Given the description of an element on the screen output the (x, y) to click on. 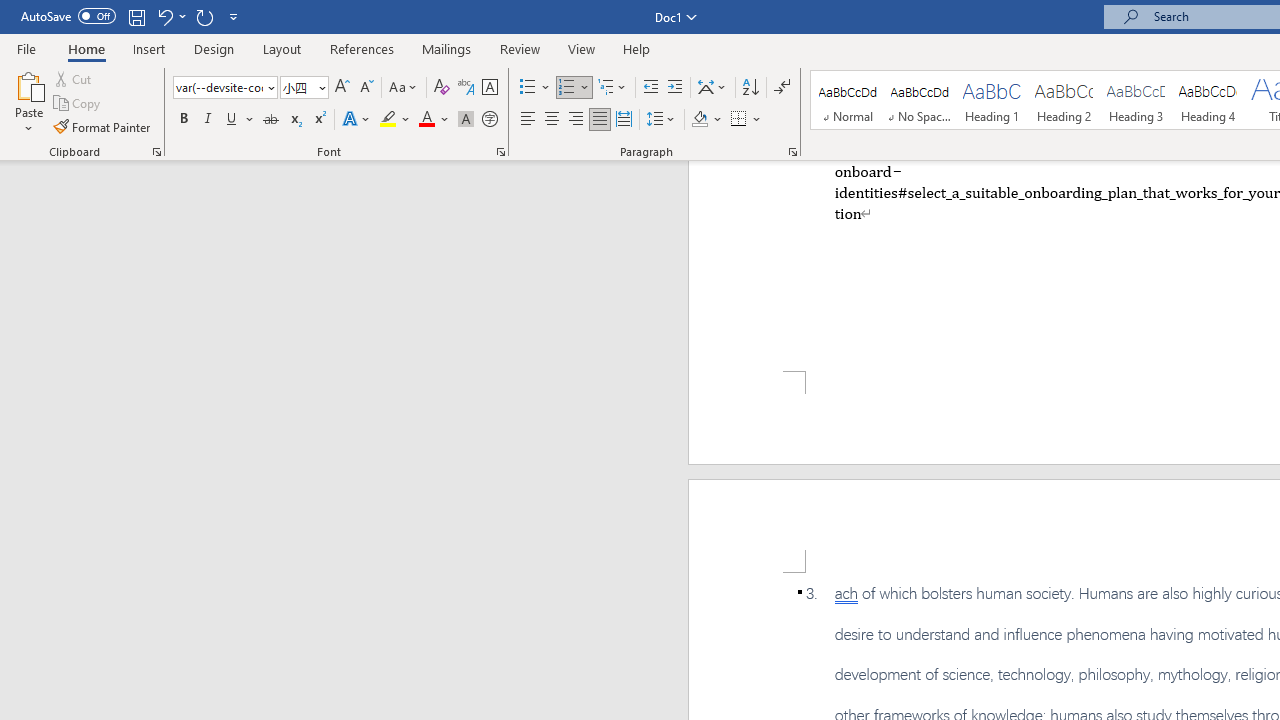
View (582, 48)
Font (218, 87)
Justify (599, 119)
Mailings (447, 48)
Shading RGB(0, 0, 0) (699, 119)
Save (136, 15)
Show/Hide Editing Marks (781, 87)
Undo Apply Quick Style (170, 15)
Borders (746, 119)
Font Color (434, 119)
Multilevel List (613, 87)
Distributed (623, 119)
Shading (706, 119)
Font... (500, 151)
